Given the description of an element on the screen output the (x, y) to click on. 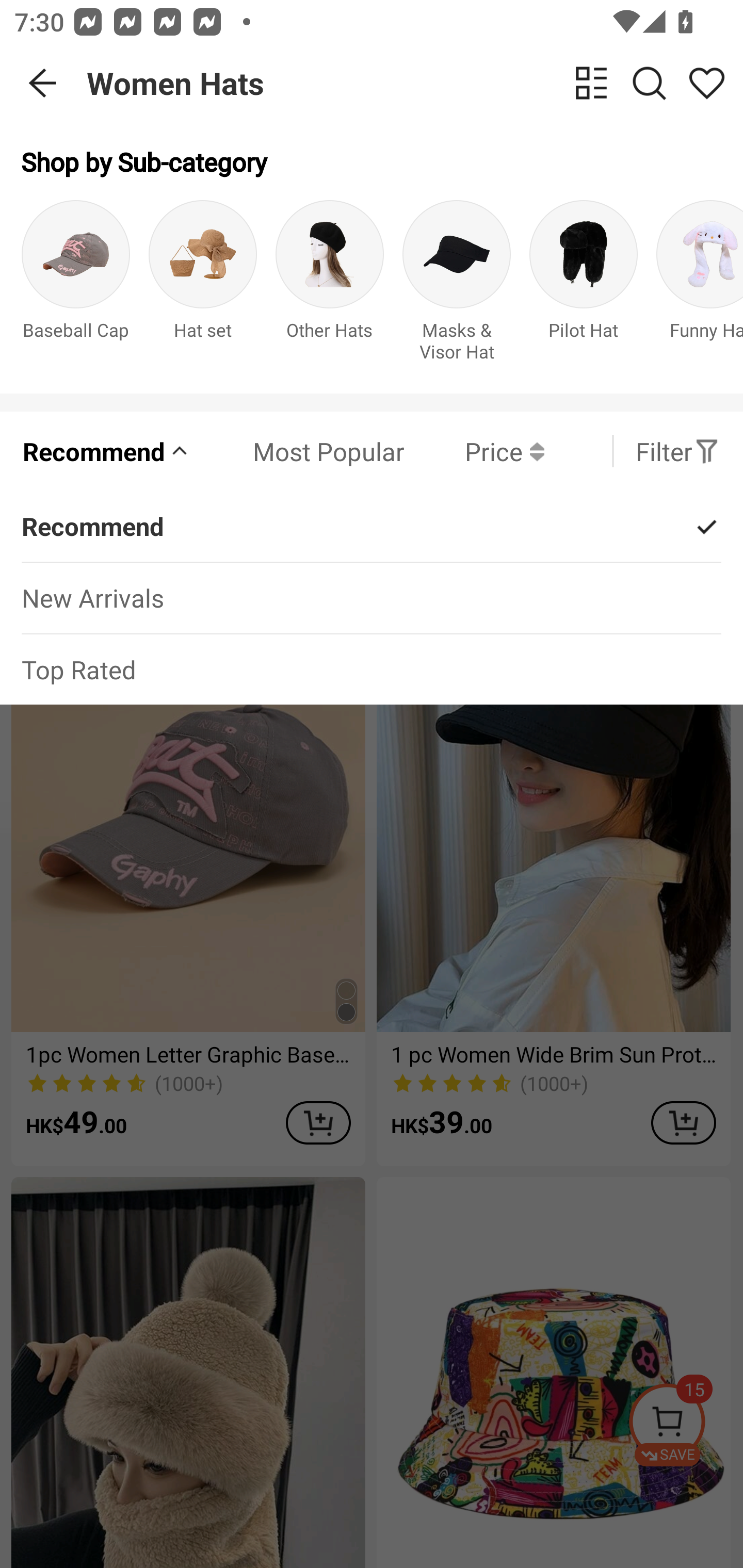
Women Hats change view Search Share (414, 82)
change view (591, 82)
Search (648, 82)
Share (706, 82)
Baseball Cap (75, 285)
Hat set (202, 285)
Other Hats (329, 285)
Masks & Visor Hat (456, 285)
Pilot Hat (583, 285)
Funny Hat (699, 285)
Recommend (106, 450)
Most Popular (297, 450)
Price (474, 450)
Filter (677, 450)
